Given the description of an element on the screen output the (x, y) to click on. 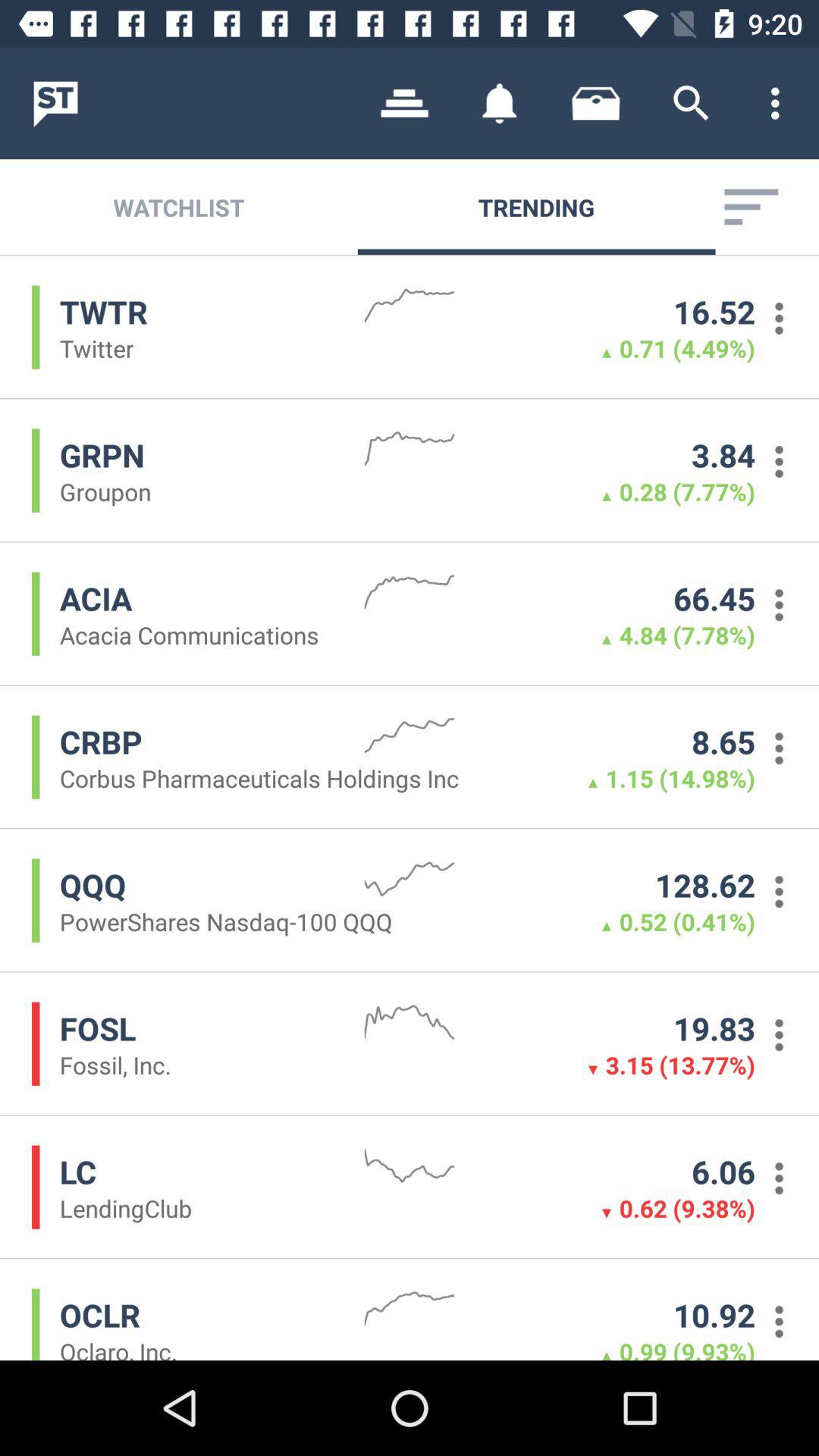
flip to trending icon (536, 206)
